Given the description of an element on the screen output the (x, y) to click on. 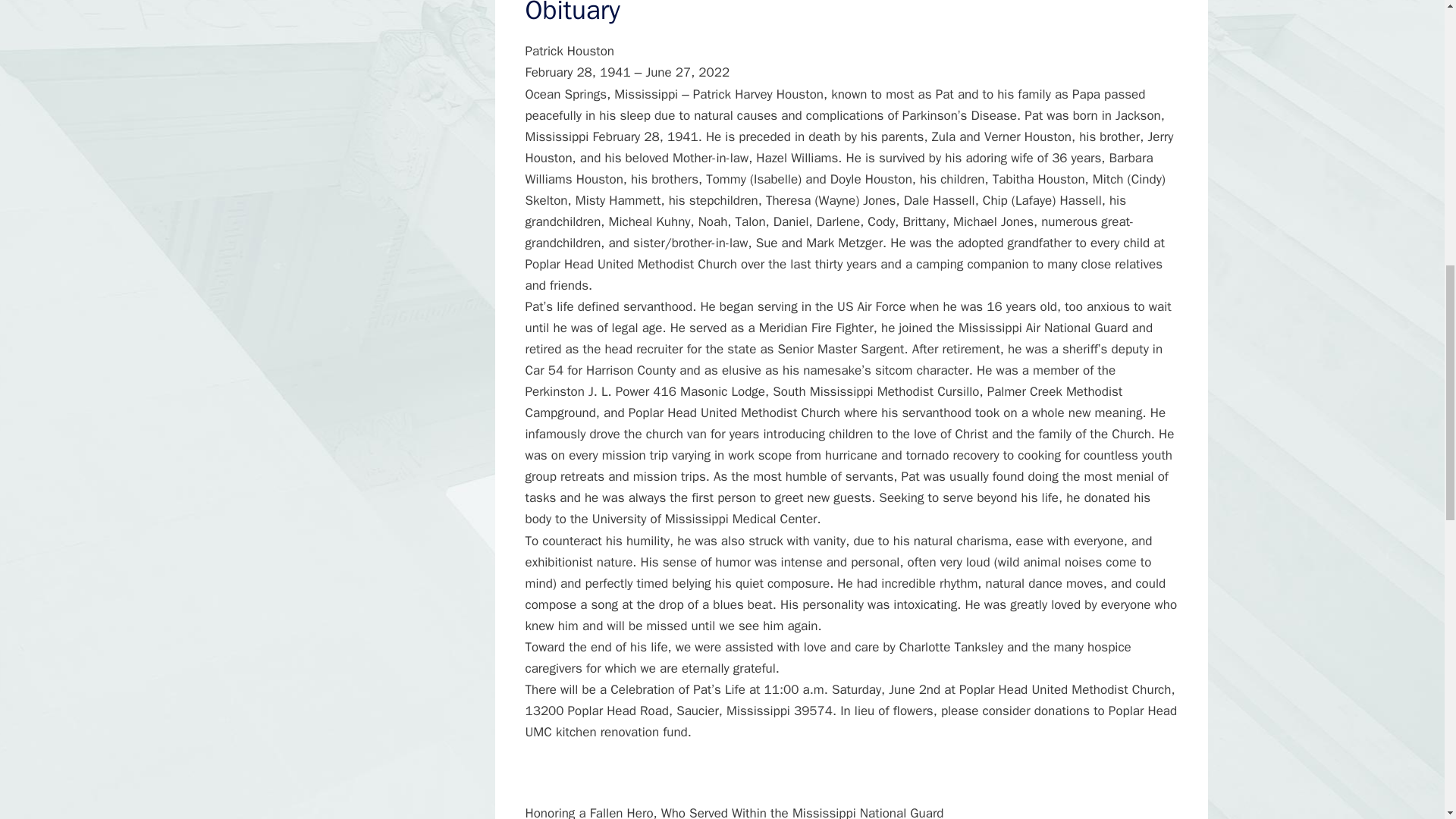
Scroll back to top (1406, 720)
